Given the description of an element on the screen output the (x, y) to click on. 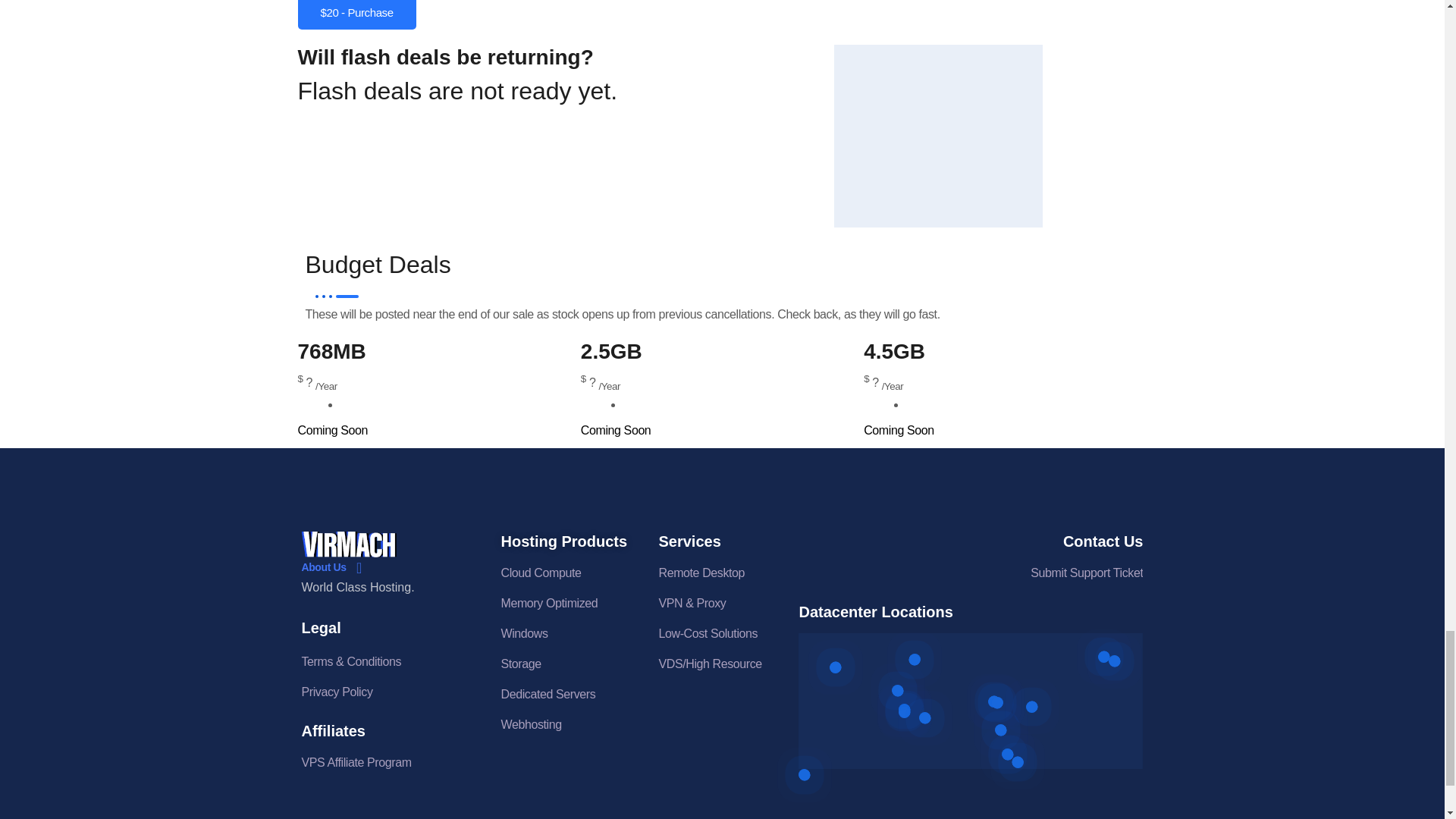
map (969, 701)
